Given the description of an element on the screen output the (x, y) to click on. 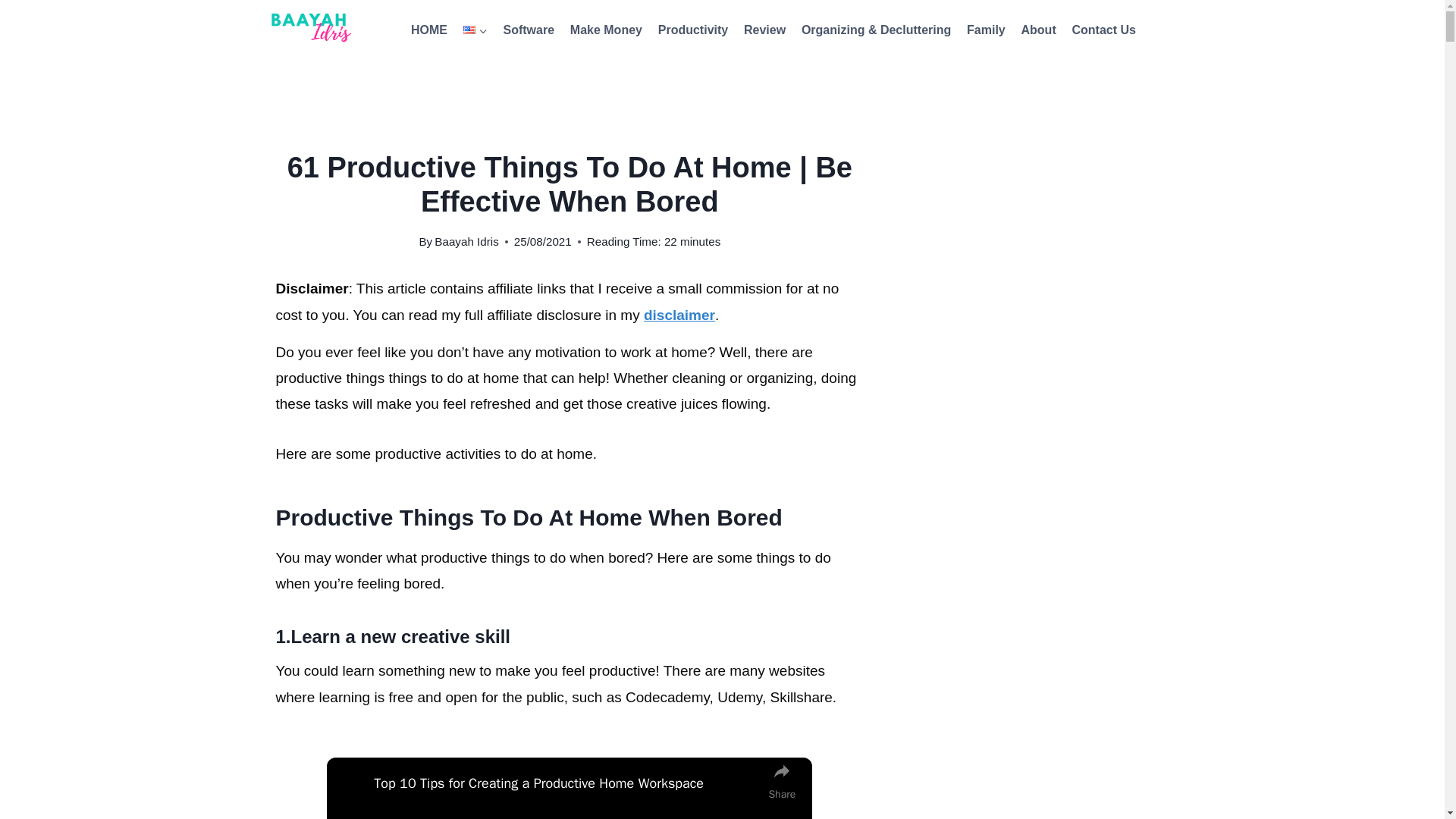
Contact Us (1103, 29)
Make Money (605, 29)
Software (528, 29)
About (1038, 29)
HOME (429, 29)
Review (764, 29)
Productivity (692, 29)
Family (986, 29)
Baayah Idris (465, 241)
disclaimer (678, 314)
